Given the description of an element on the screen output the (x, y) to click on. 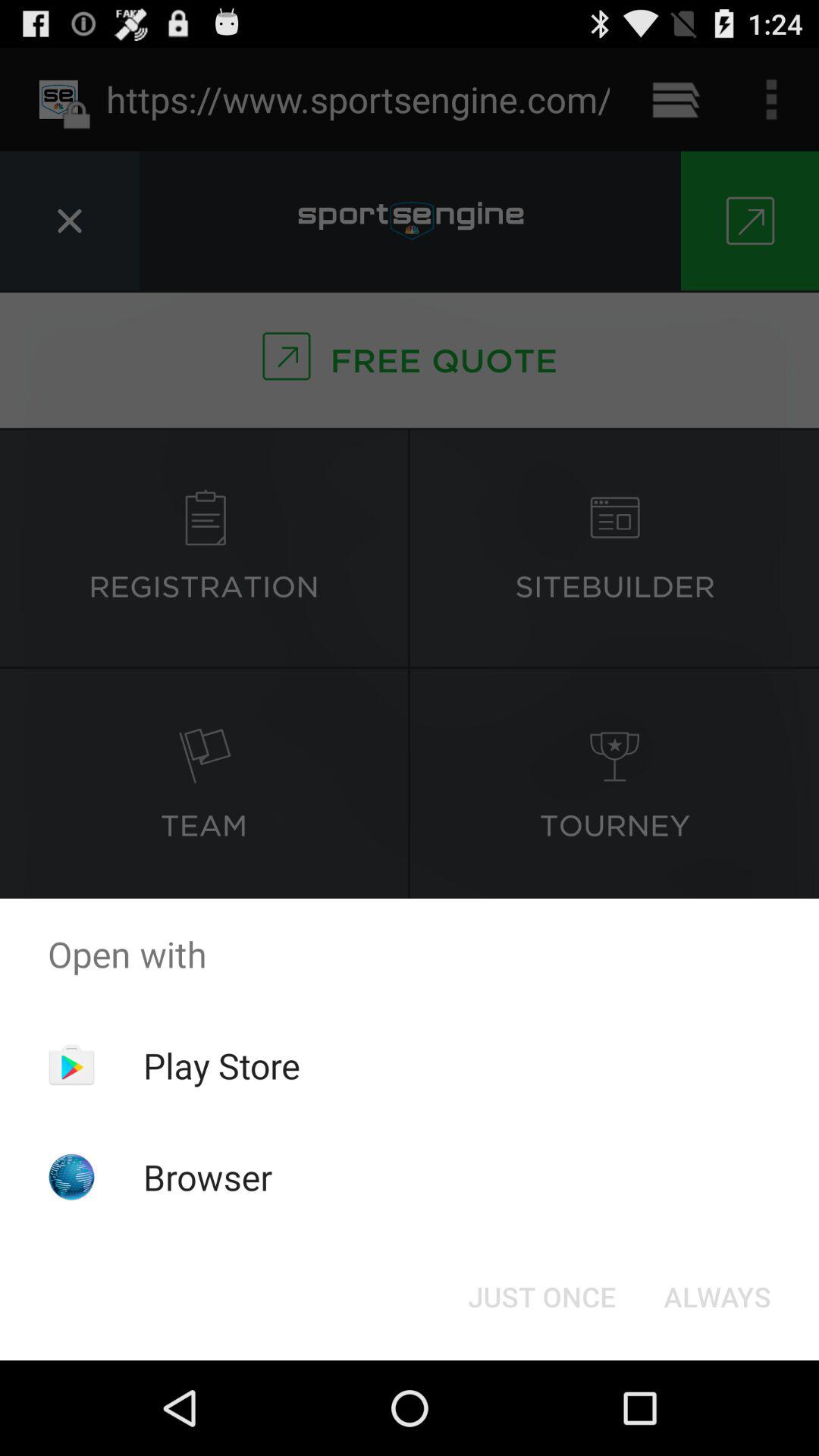
turn off the app above browser item (221, 1065)
